Given the description of an element on the screen output the (x, y) to click on. 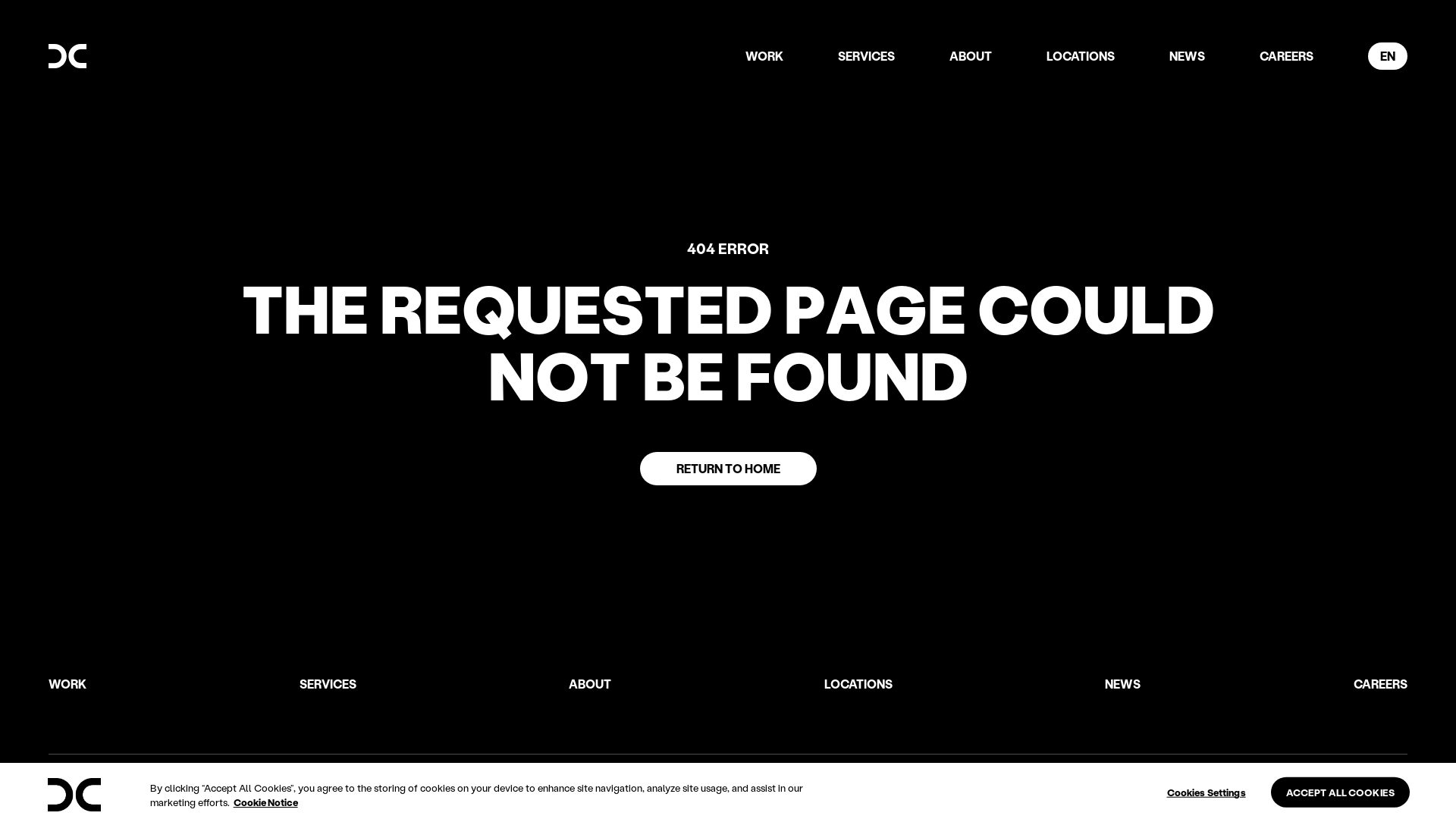
SERVICES Element type: text (327, 683)
CAREERS Element type: text (1286, 56)
NEWS Element type: text (1186, 56)
Dentsu Creative Element type: hover (73, 794)
LOCATIONS Element type: text (858, 683)
CAREERS Element type: text (1380, 683)
EN Element type: text (1387, 55)
WORK Element type: text (67, 683)
ABOUT Element type: text (970, 56)
NEWS Element type: text (1122, 683)
R
E
T
U
R
N
T
O
H
O
M
E Element type: text (728, 468)
LOCATIONS Element type: text (1080, 56)
Cookie Notice Element type: text (265, 801)
WORK Element type: text (764, 56)
ABOUT Element type: text (589, 683)
SERVICES Element type: text (865, 56)
Cookies Settings Element type: text (1206, 792)
ACCEPT ALL COOKIES Element type: text (1339, 792)
